Given the description of an element on the screen output the (x, y) to click on. 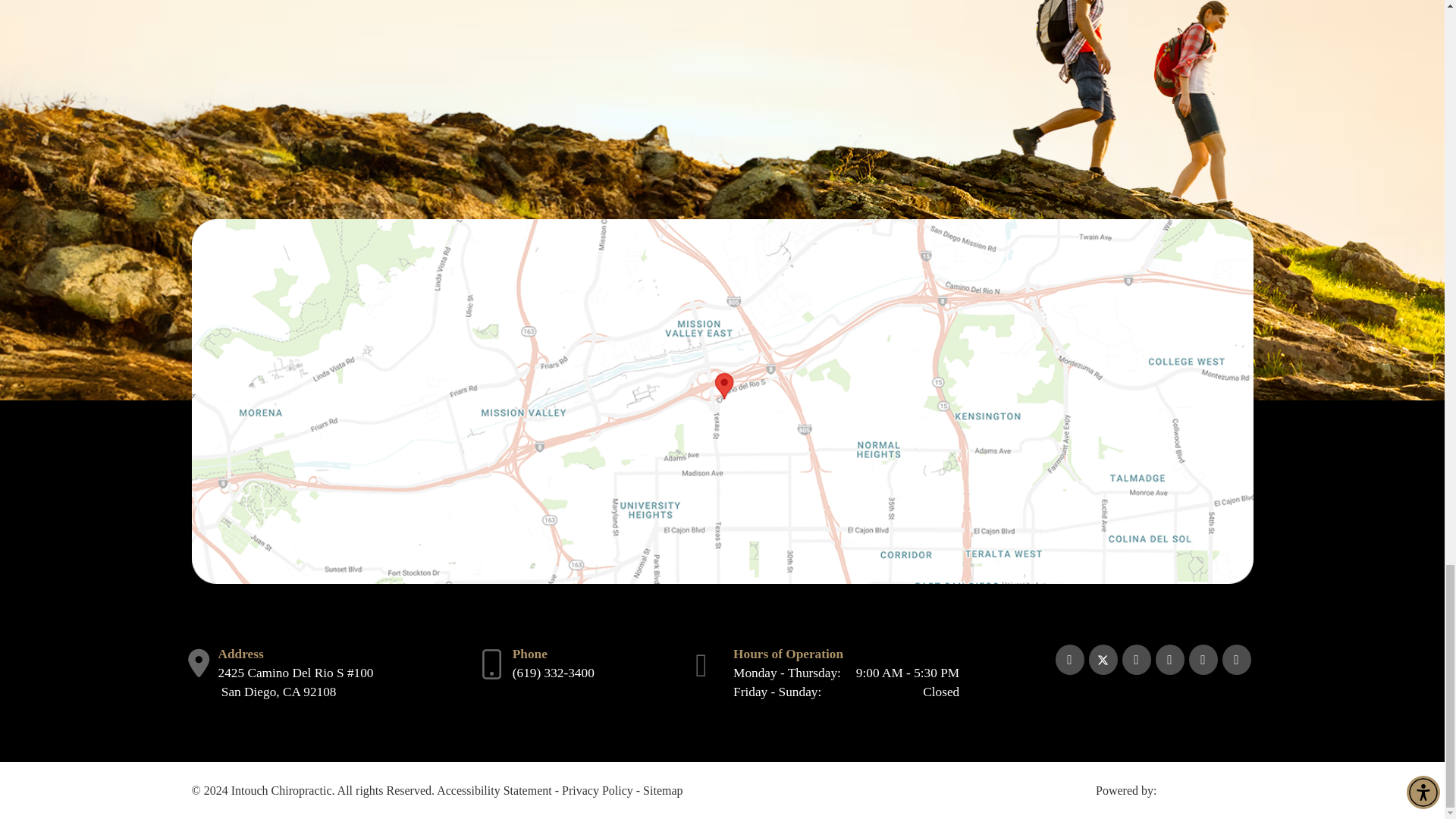
Roya (1206, 791)
